Given the description of an element on the screen output the (x, y) to click on. 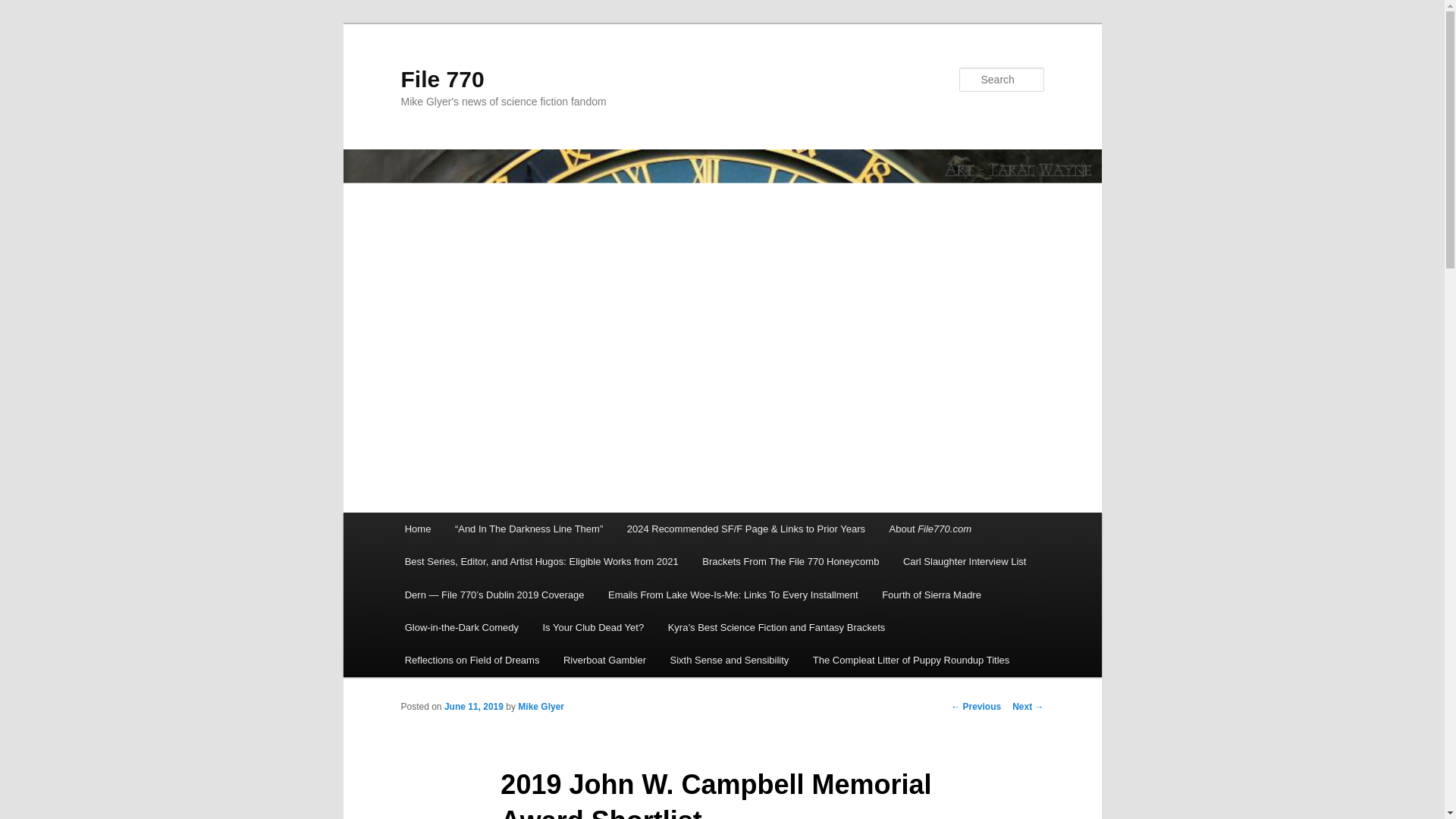
Reflections on Field of Dreams (472, 659)
Sixth Sense and Sensibility (729, 659)
Riverboat Gambler (604, 659)
June 11, 2019 (473, 706)
Fourth of Sierra Madre (930, 594)
1:58 pm (473, 706)
Is Your Club Dead Yet? (593, 626)
Search (24, 8)
The Compleat Litter of Puppy Roundup Titles (911, 659)
Home (417, 528)
Emails From Lake Woe-Is-Me: Links To Every Installment (732, 594)
Glow-in-the-Dark Comedy (462, 626)
Carl Slaughter Interview List (964, 561)
Mike Glyer (541, 706)
